Given the description of an element on the screen output the (x, y) to click on. 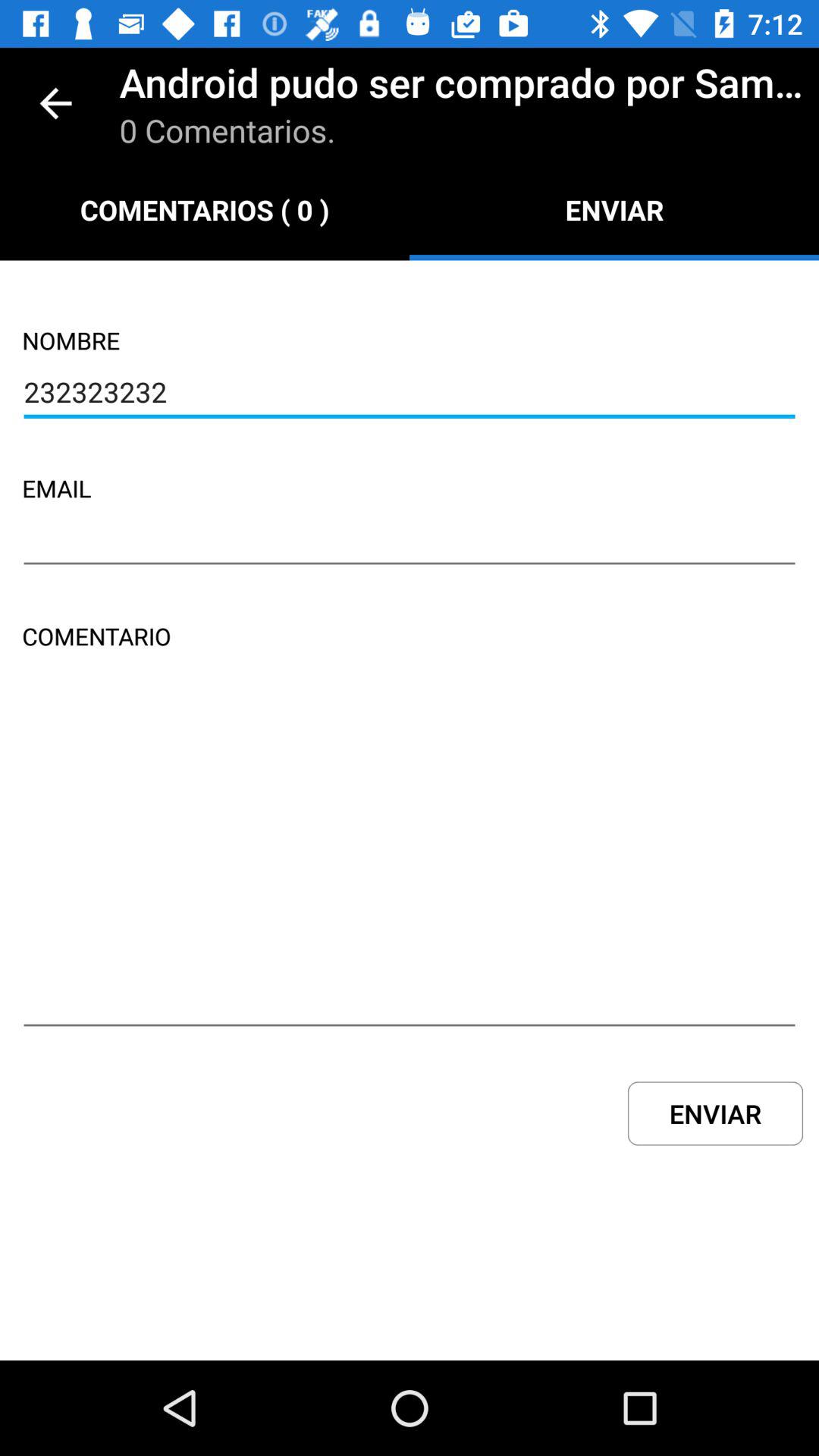
open the icon next to the android pudo ser (55, 103)
